Given the description of an element on the screen output the (x, y) to click on. 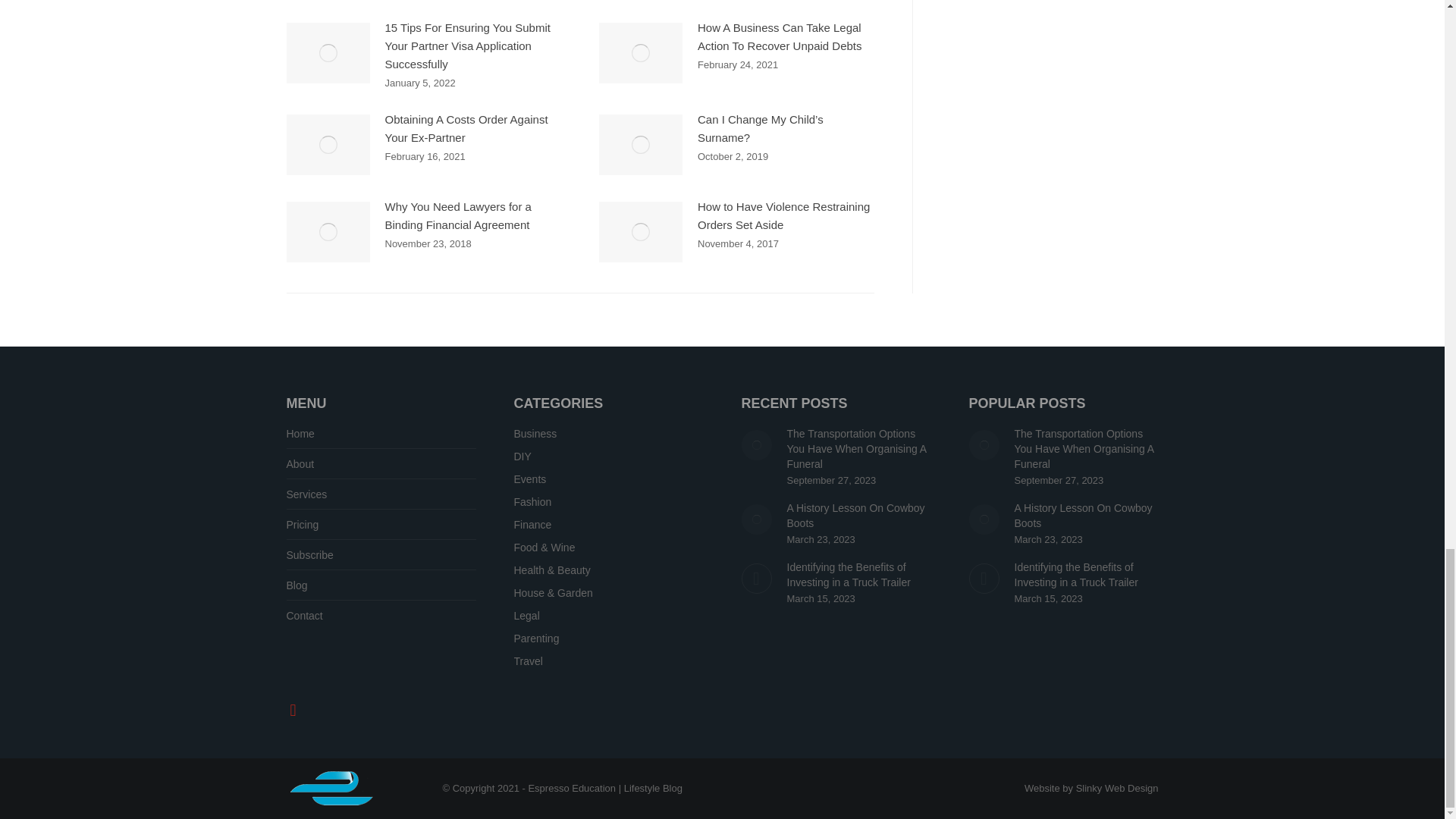
Facebook (293, 708)
